Given the description of an element on the screen output the (x, y) to click on. 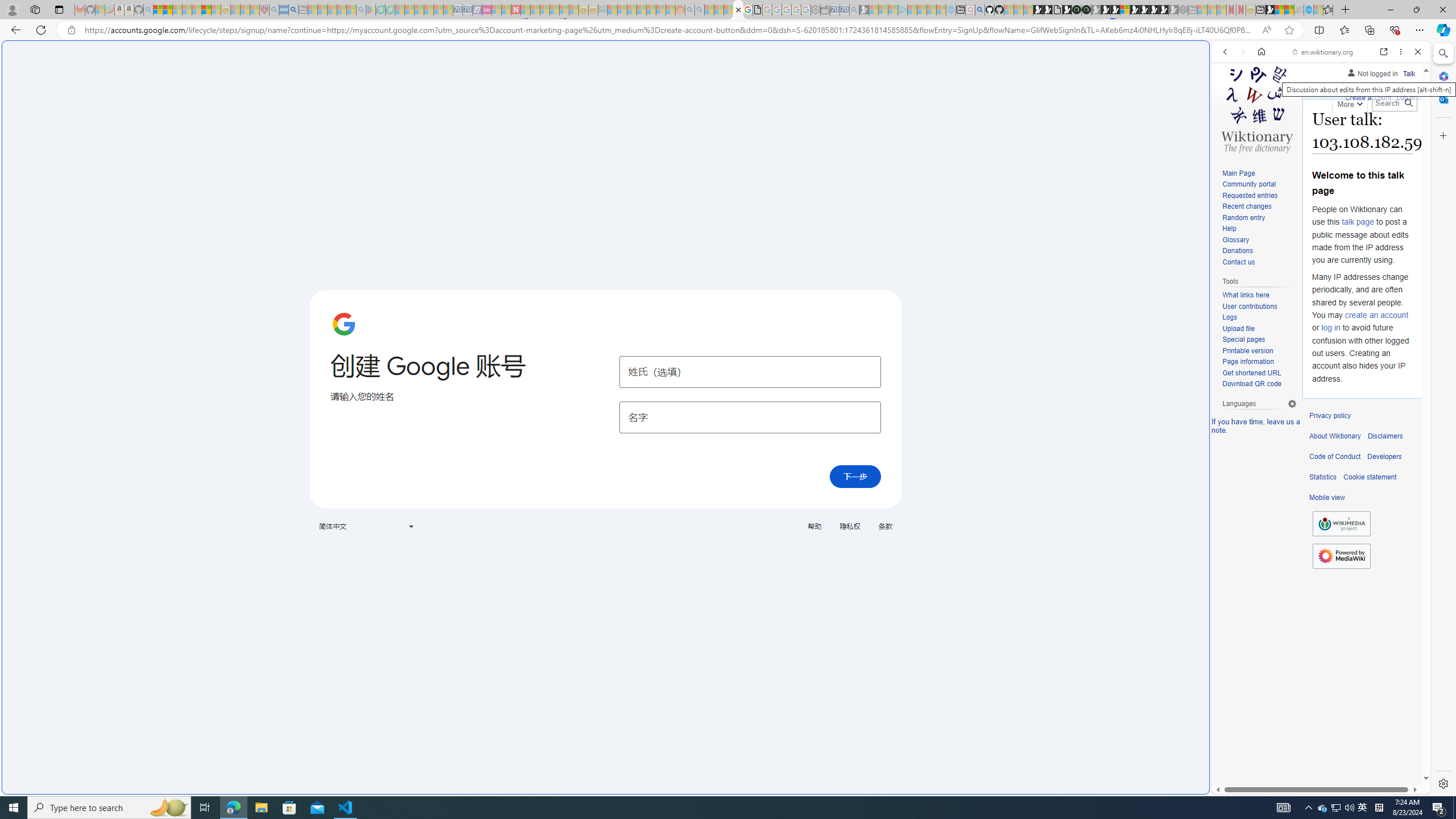
Future Focus Report 2024 (1085, 9)
Close split screen (1208, 57)
Download QR code (1251, 384)
Donations (1237, 250)
github - Search (979, 9)
